Given the description of an element on the screen output the (x, y) to click on. 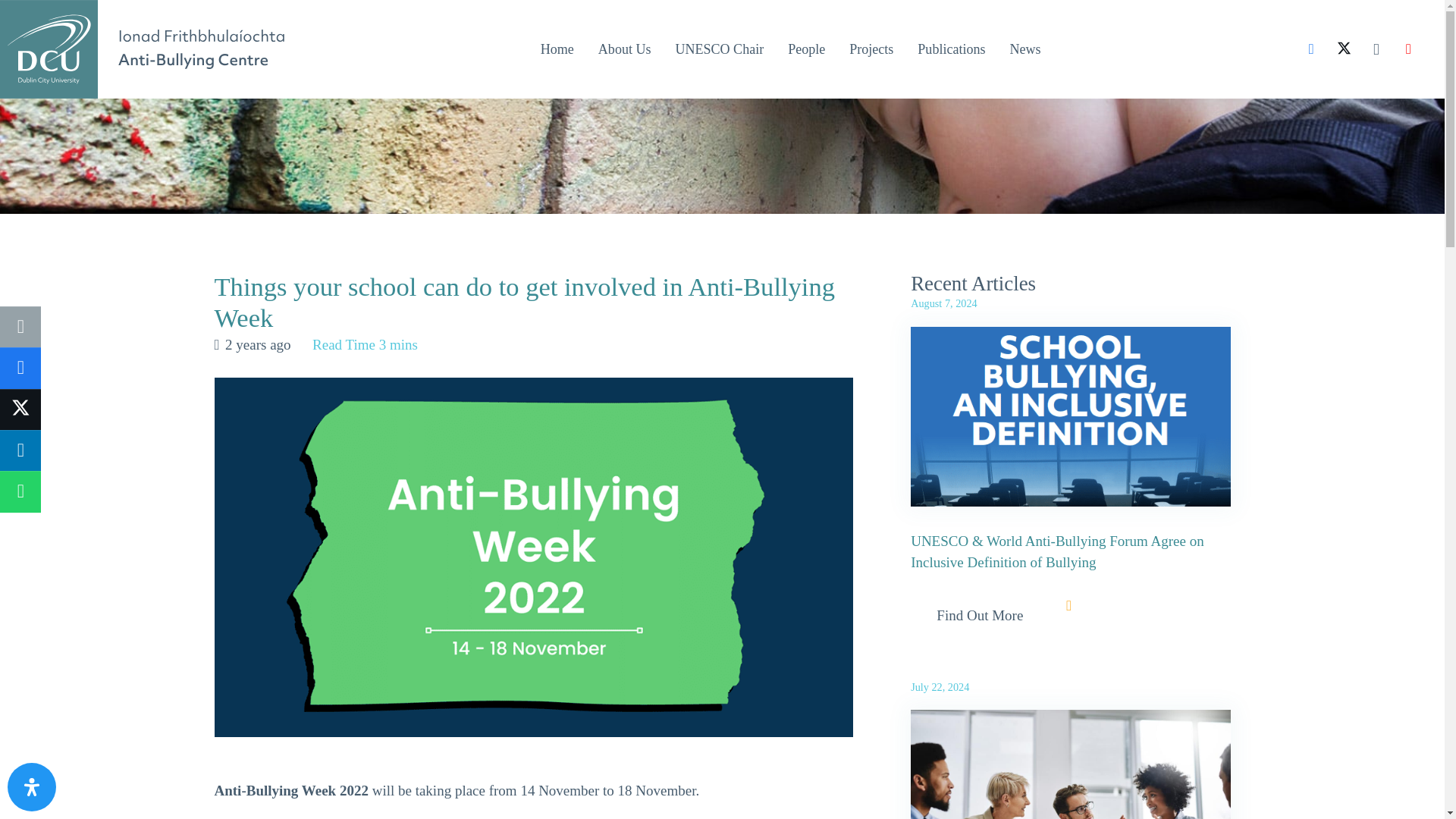
Find Out More (979, 615)
Publications (951, 49)
UNESCO Chair (719, 49)
